Given the description of an element on the screen output the (x, y) to click on. 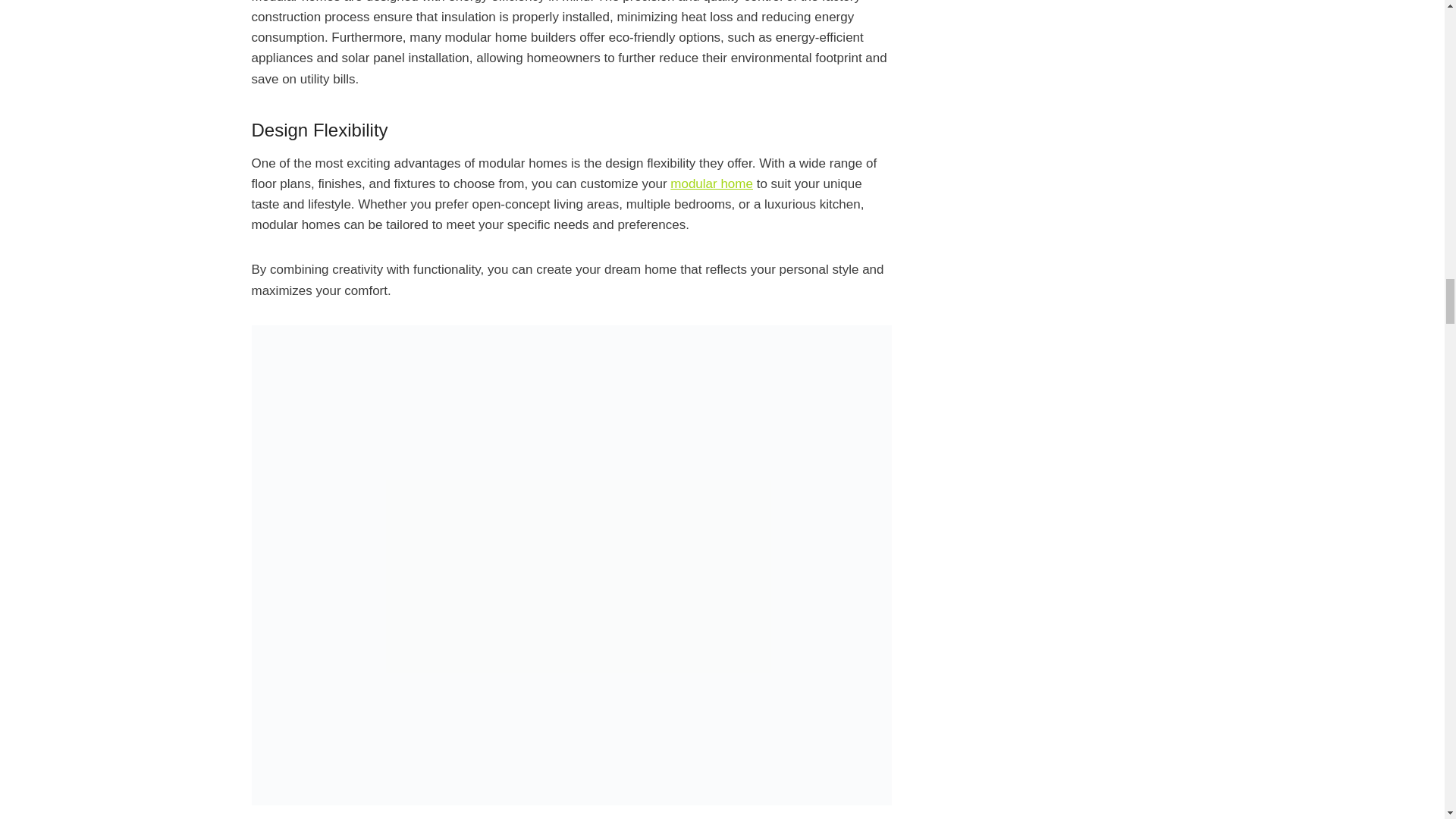
modular home (710, 183)
